Given the description of an element on the screen output the (x, y) to click on. 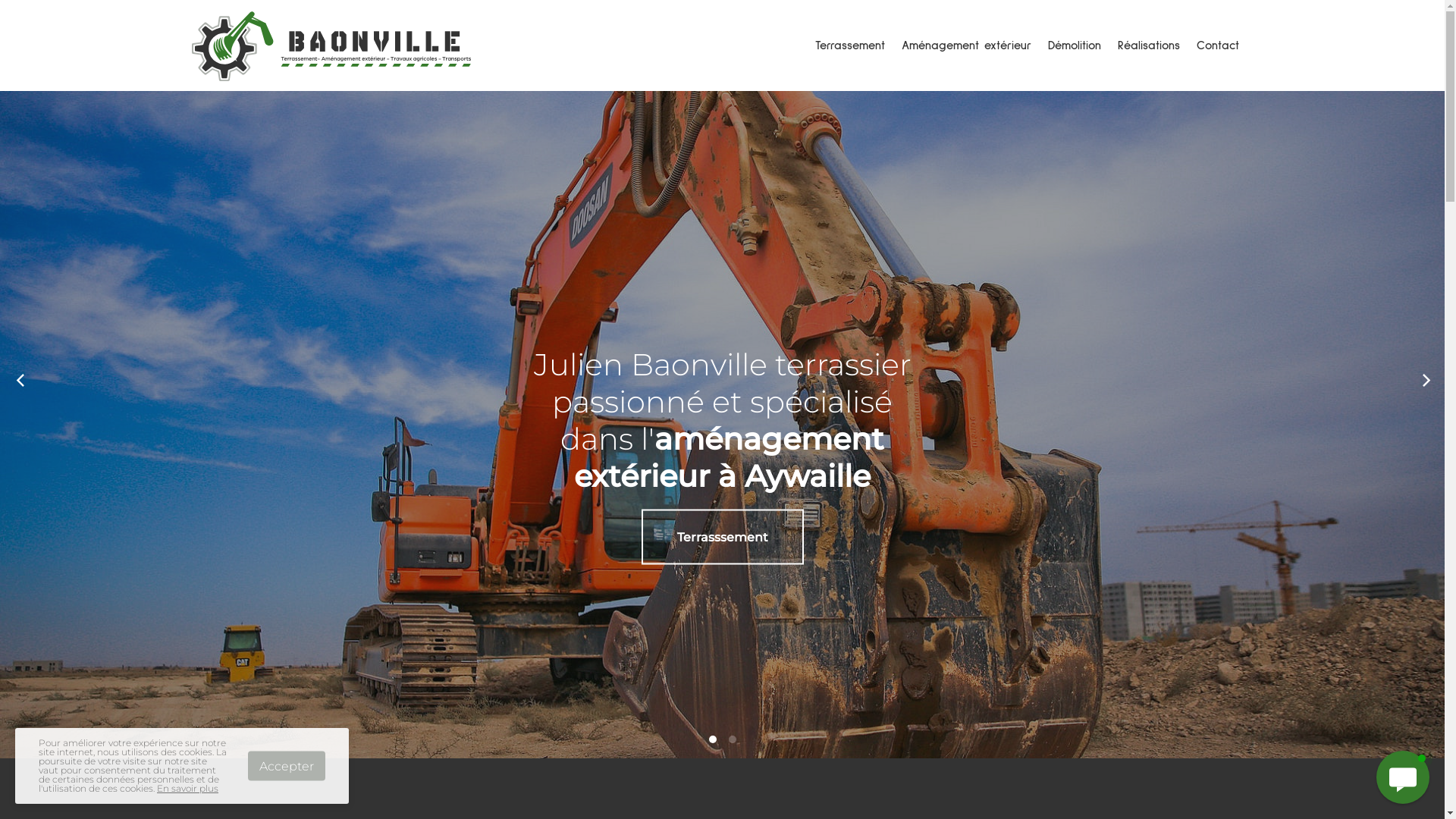
Contact Element type: text (1217, 45)
En savoir plus Element type: text (187, 787)
Terrassement Element type: text (849, 45)
Accepter Element type: text (286, 765)
Terrasssement Element type: text (722, 536)
